Given the description of an element on the screen output the (x, y) to click on. 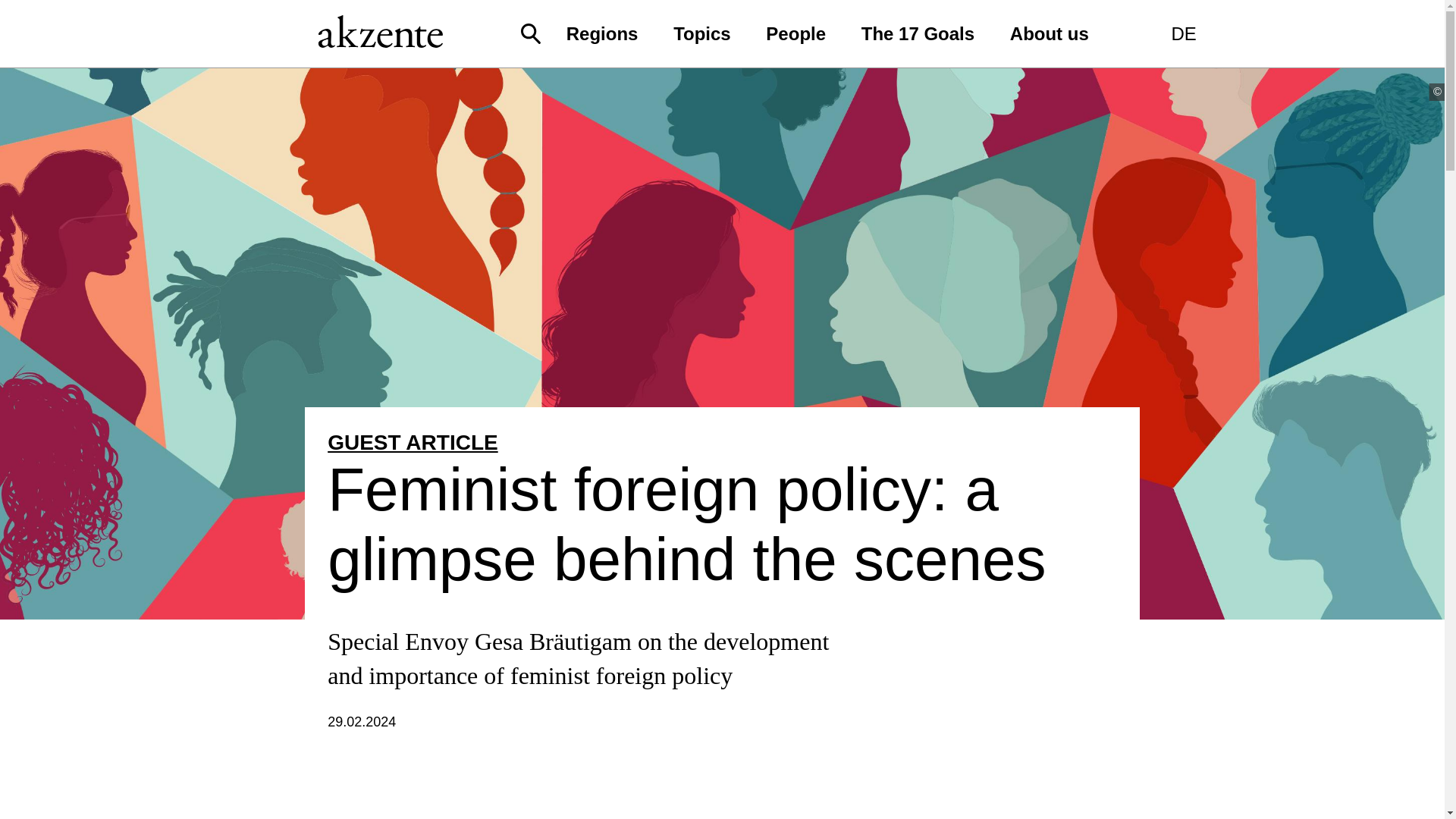
The 17 Goals (917, 33)
DE (1182, 33)
Topics (701, 33)
Search (942, 91)
People (796, 33)
Regions (602, 33)
Search (530, 36)
About us (1048, 33)
Home (380, 43)
